Given the description of an element on the screen output the (x, y) to click on. 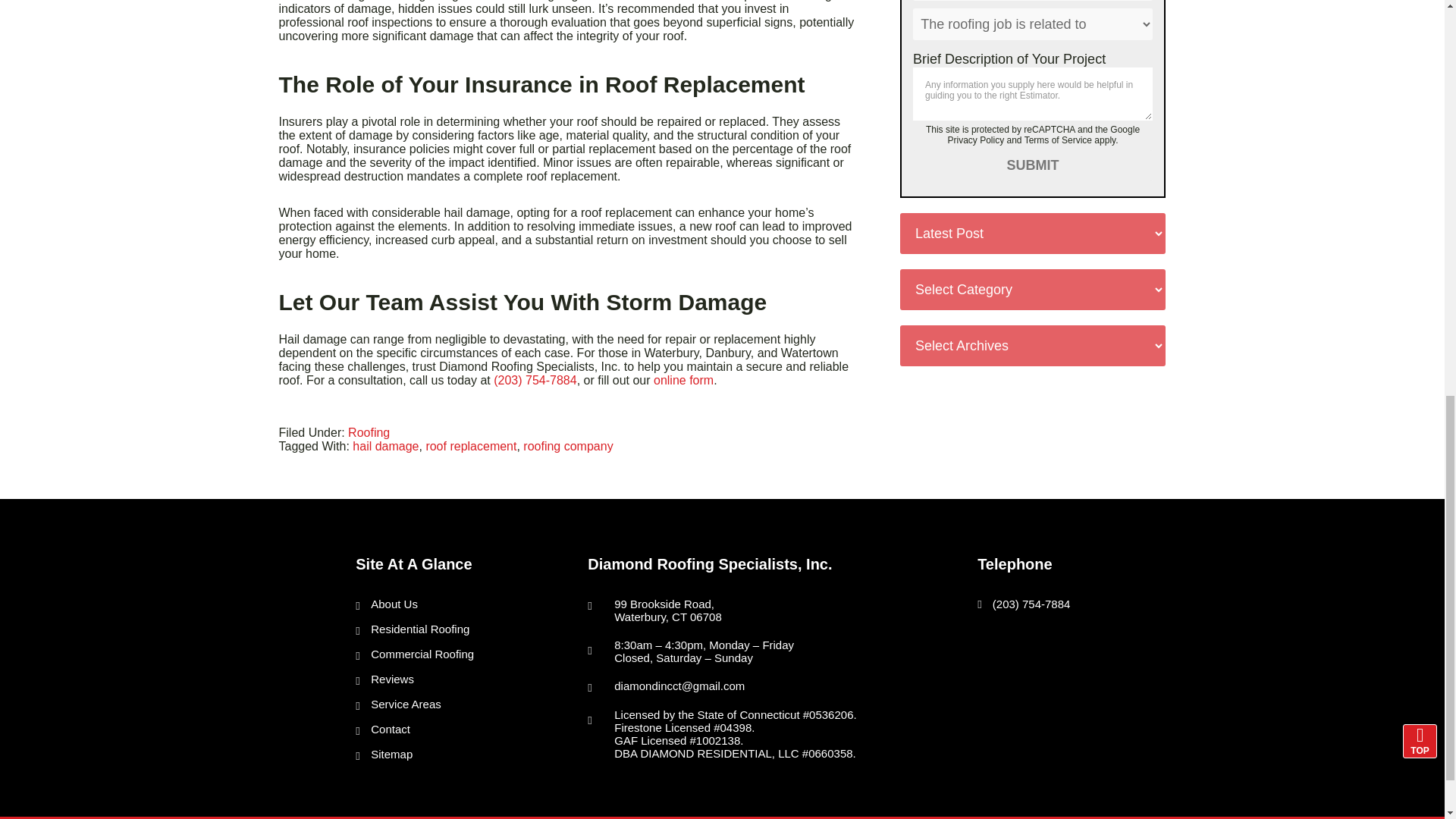
Submit (1032, 164)
